Given the description of an element on the screen output the (x, y) to click on. 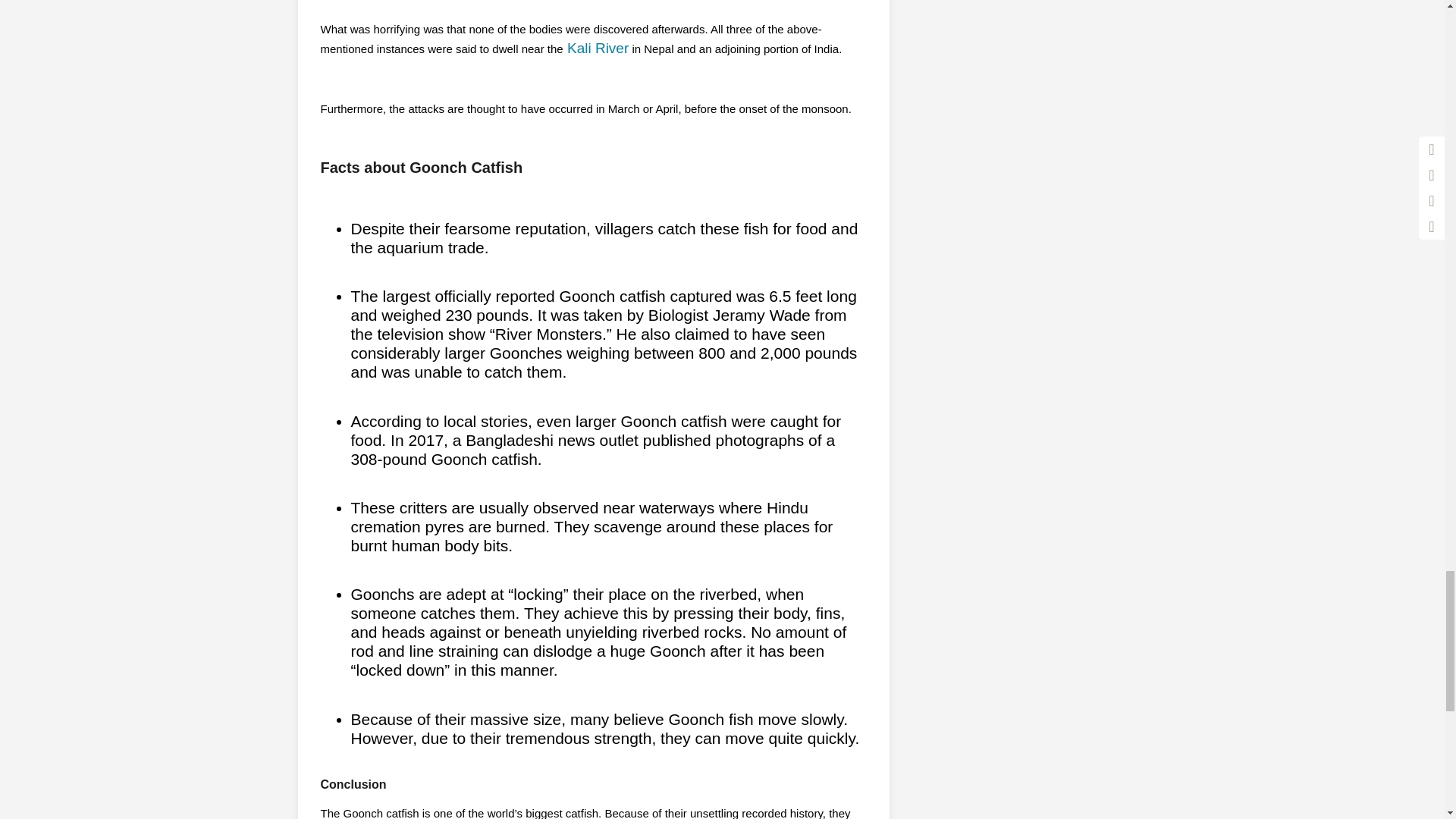
Kali River (595, 48)
